Given the description of an element on the screen output the (x, y) to click on. 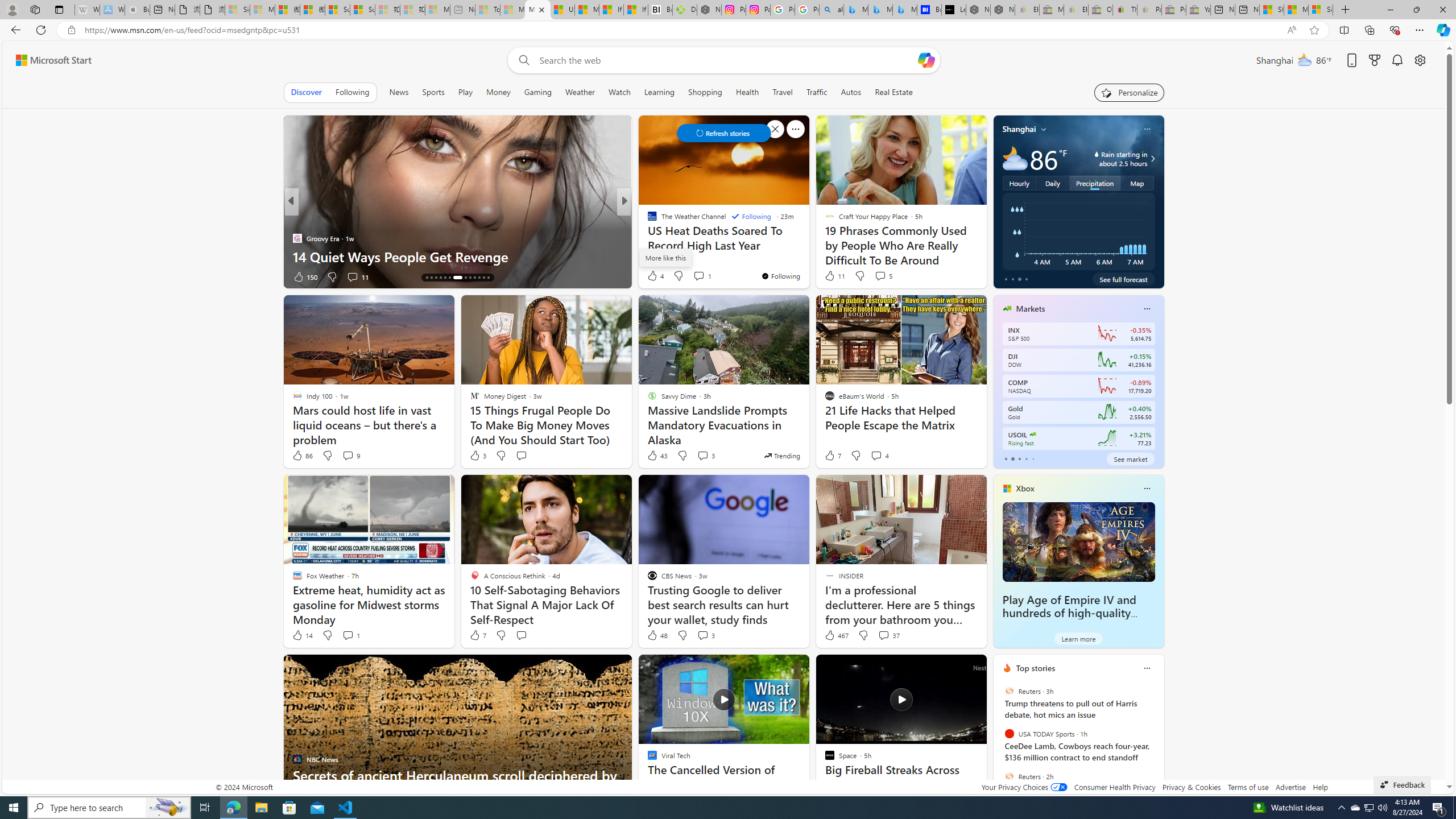
next (1158, 741)
Threats and offensive language policy | eBay (1124, 9)
